Given the description of an element on the screen output the (x, y) to click on. 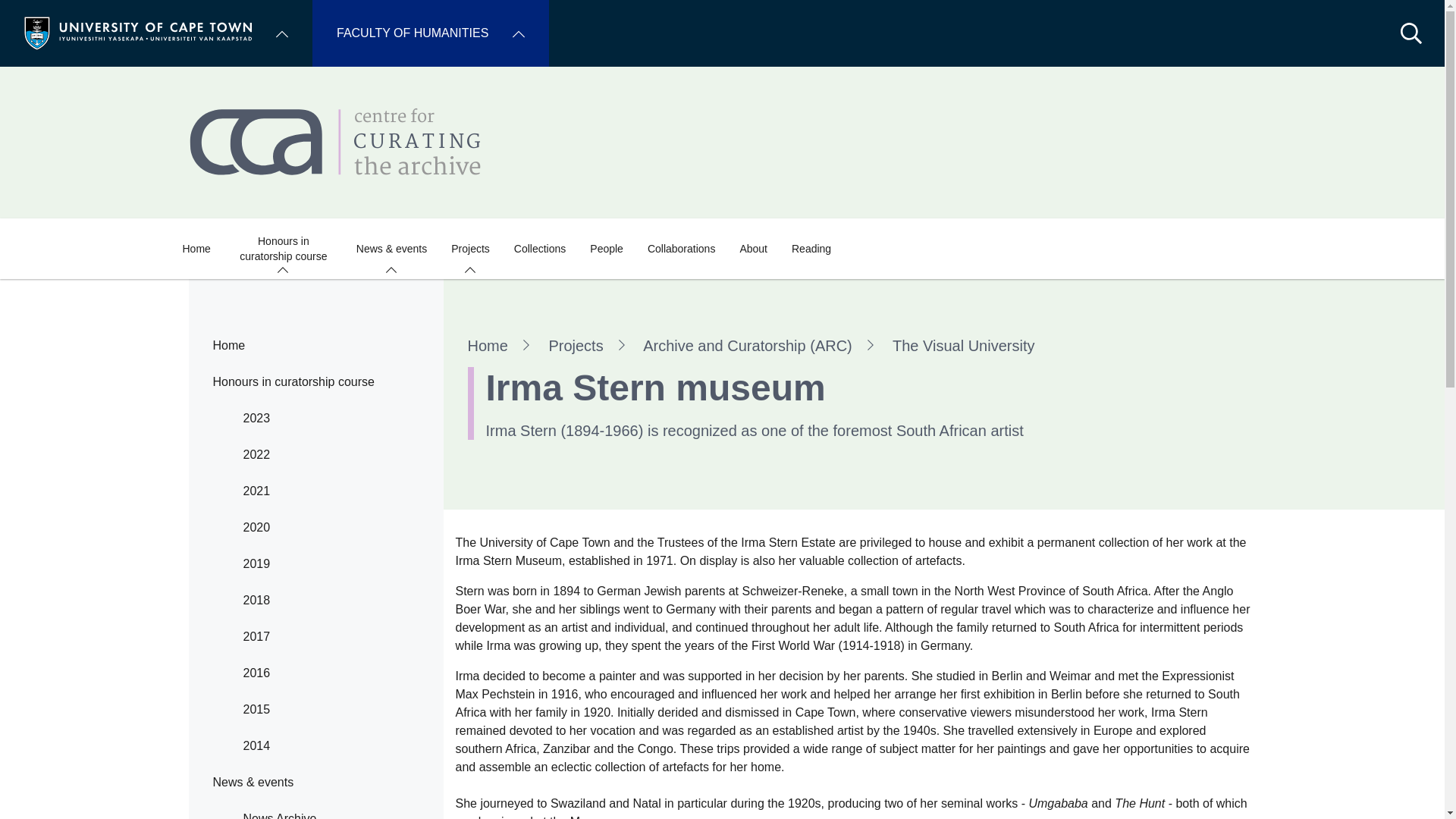
Honours in curatorship course (282, 248)
Home (137, 31)
Submit (32, 15)
FACULTY OF HUMANITIES (430, 33)
